Given the description of an element on the screen output the (x, y) to click on. 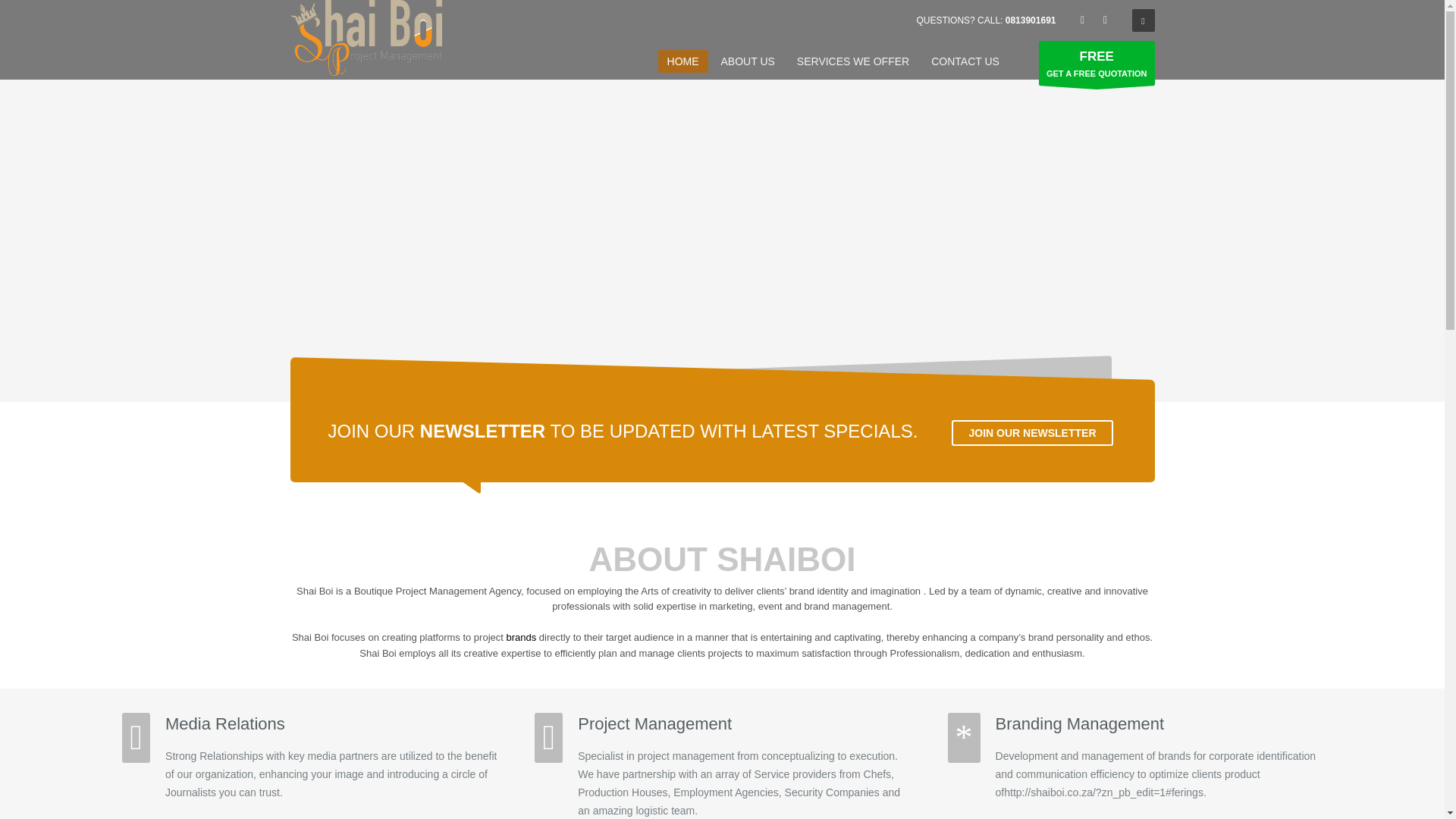
Facebook (1081, 20)
JOIN OUR NEWSLETTER (1032, 432)
ABOUT US (747, 61)
HOME (682, 61)
Twitter (1104, 20)
brands (521, 636)
0813901691 (1031, 20)
Events management (365, 38)
CONTACT US (965, 61)
SERVICES WE OFFER (852, 61)
